Given the description of an element on the screen output the (x, y) to click on. 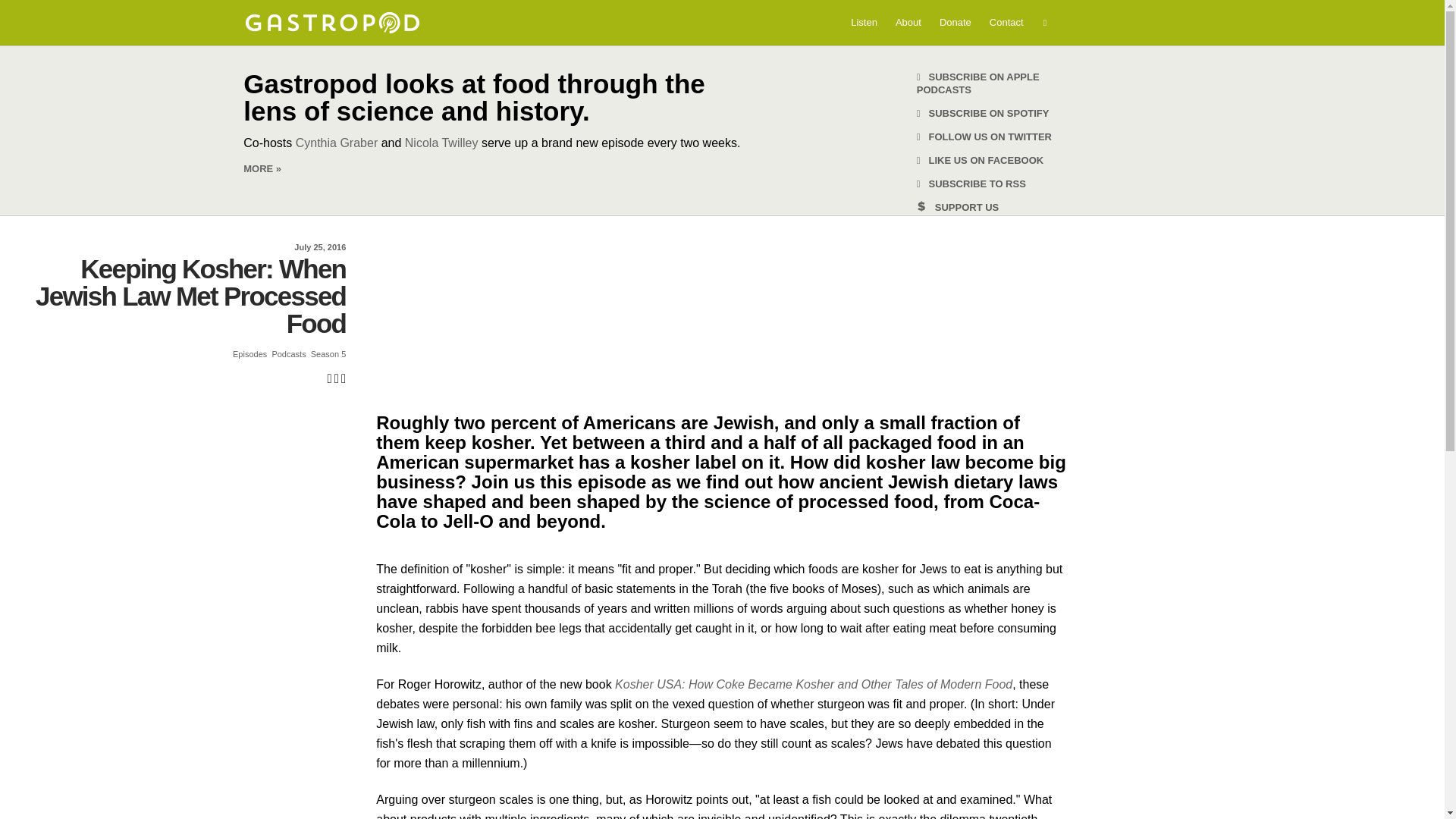
Nicola Twilley (441, 142)
Donate (954, 22)
Search for: (1046, 22)
Episodes (249, 353)
Gastropod (331, 22)
Season 5 (328, 353)
Listen (863, 22)
SUPPORT US (957, 206)
SUBSCRIBE ON SPOTIFY (983, 112)
Search (21, 7)
Contact (1005, 22)
Podcasts (287, 353)
SUBSCRIBE TO RSS (971, 183)
